Given the description of an element on the screen output the (x, y) to click on. 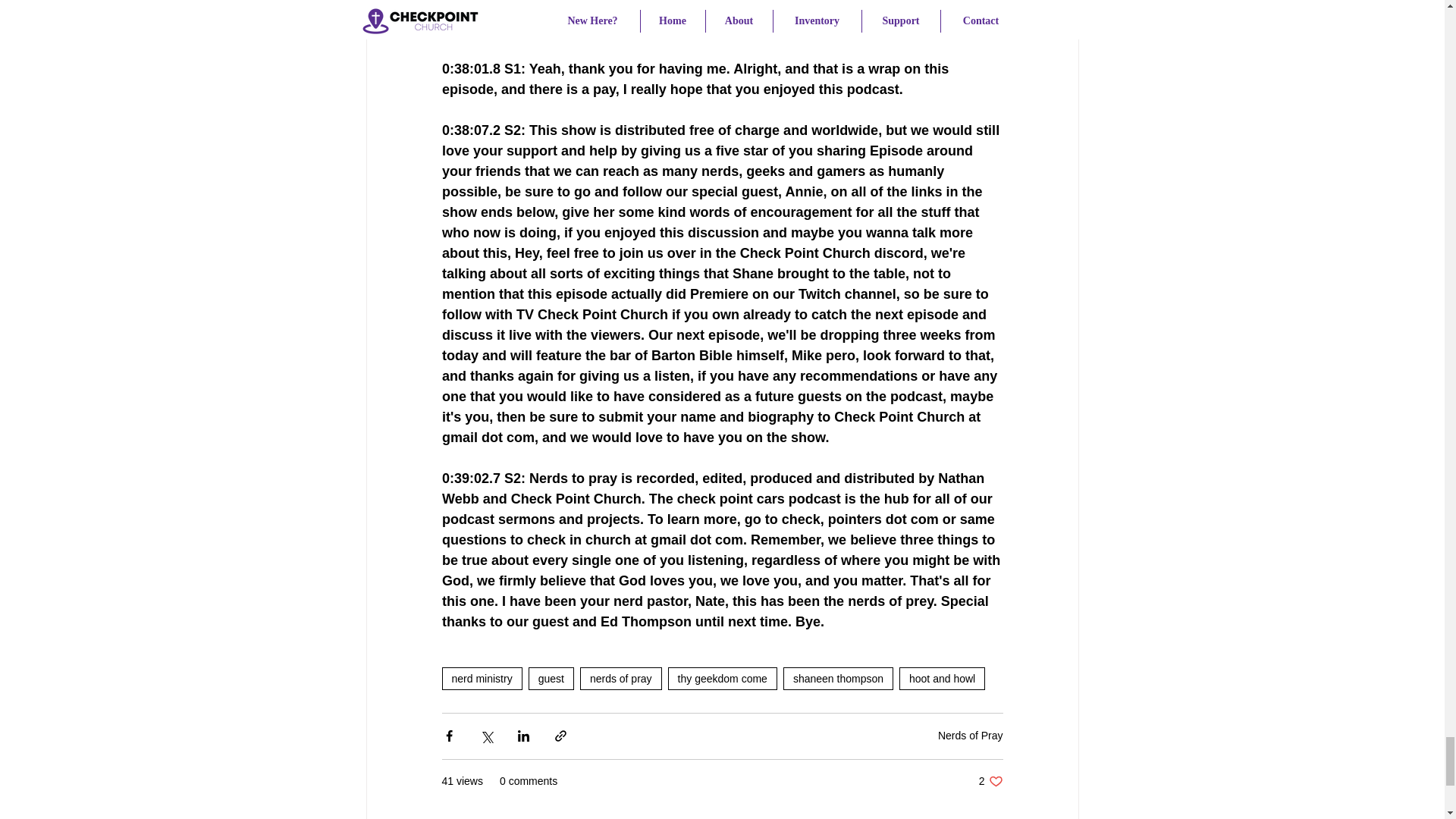
nerds of pray (620, 678)
Nerds of Pray (970, 735)
nerd ministry (481, 678)
guest (550, 678)
shaneen thompson (838, 678)
hoot and howl (942, 678)
thy geekdom come (722, 678)
